Given the description of an element on the screen output the (x, y) to click on. 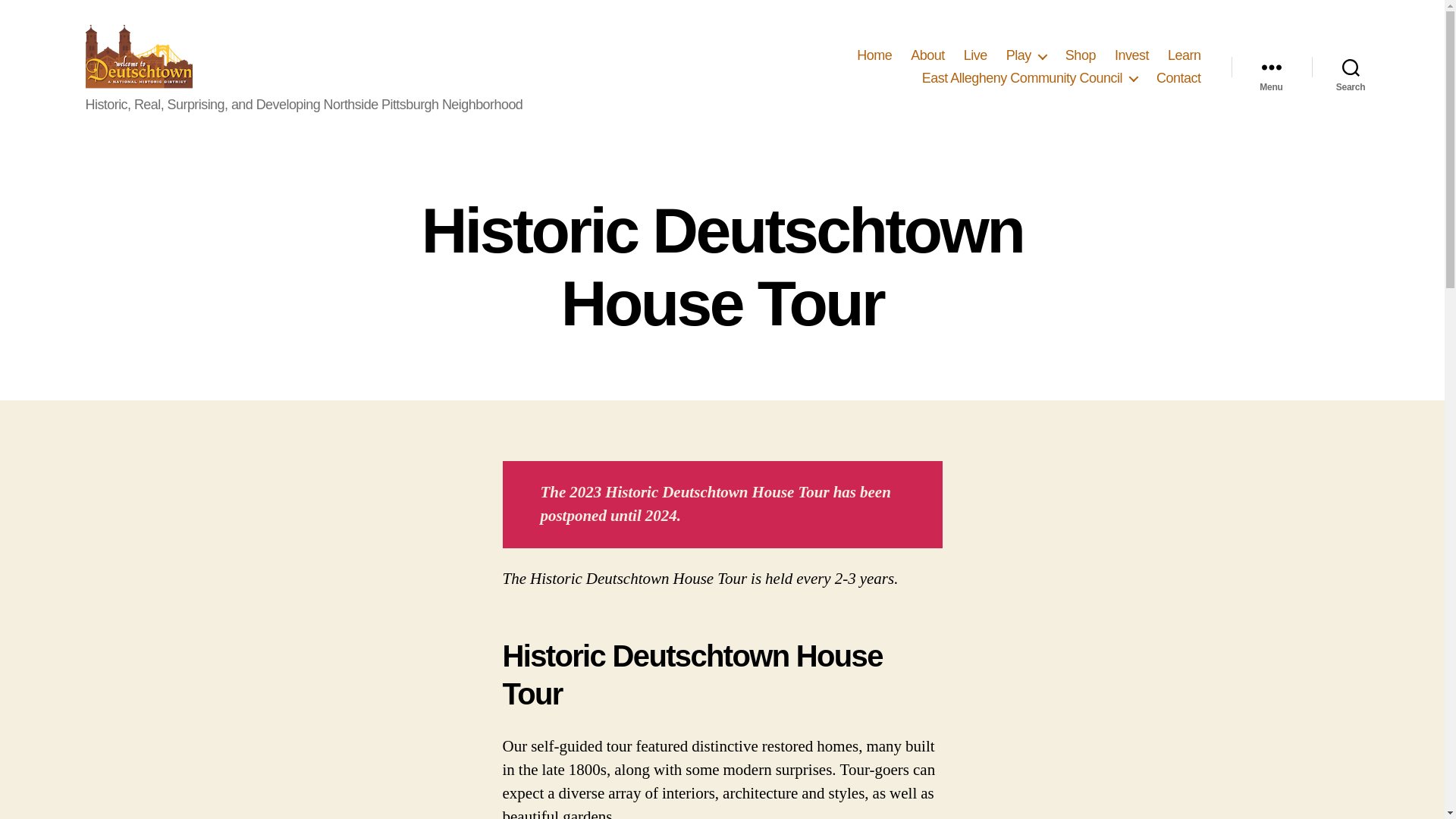
About (927, 55)
Search (1350, 66)
Contact (1178, 77)
East Allegheny Community Council (1029, 77)
Live (975, 55)
Shop (1080, 55)
Home (874, 55)
Play (1026, 55)
Learn (1184, 55)
Invest (1131, 55)
Menu (1271, 66)
